Given the description of an element on the screen output the (x, y) to click on. 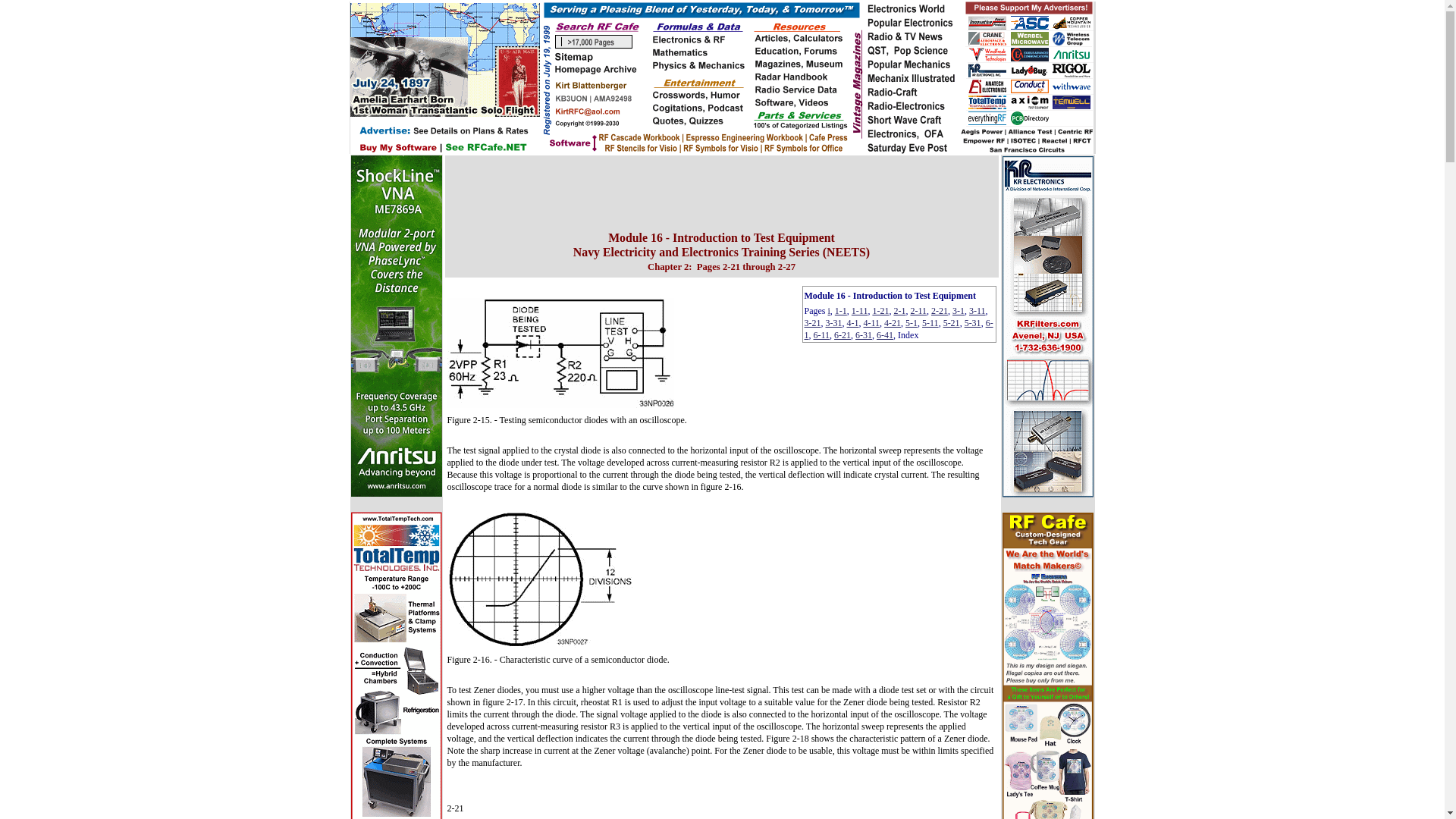
5-1 (911, 322)
2-11 (918, 310)
1-21 (880, 310)
1-1 (840, 310)
4-21 (892, 322)
3-21 (812, 322)
3-11 (977, 310)
6-11 (820, 335)
Advertisement (721, 190)
2-21 (939, 310)
5-11 (930, 322)
4-11 (871, 322)
5-21 (951, 322)
3-31 (833, 322)
1-11 (859, 310)
